Given the description of an element on the screen output the (x, y) to click on. 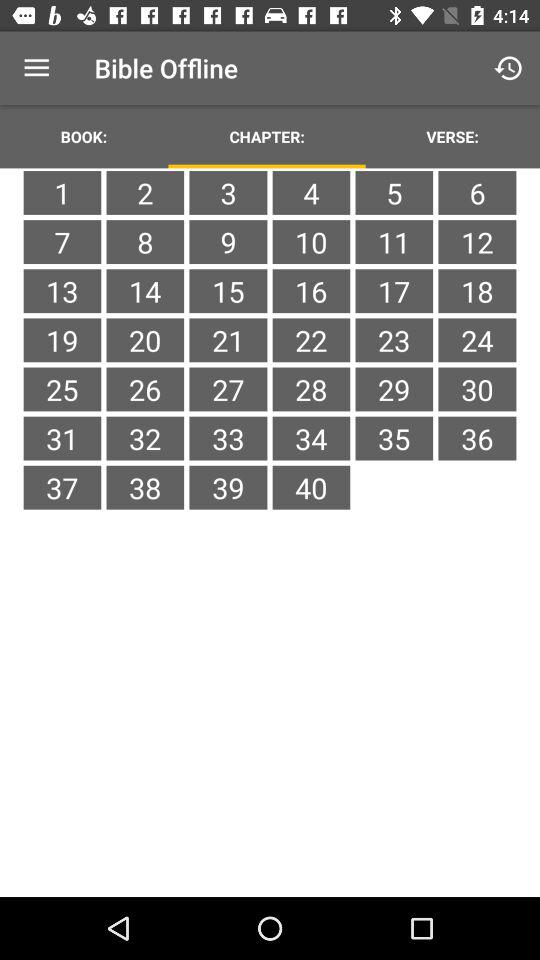
launch item next to the 22 item (394, 389)
